Given the description of an element on the screen output the (x, y) to click on. 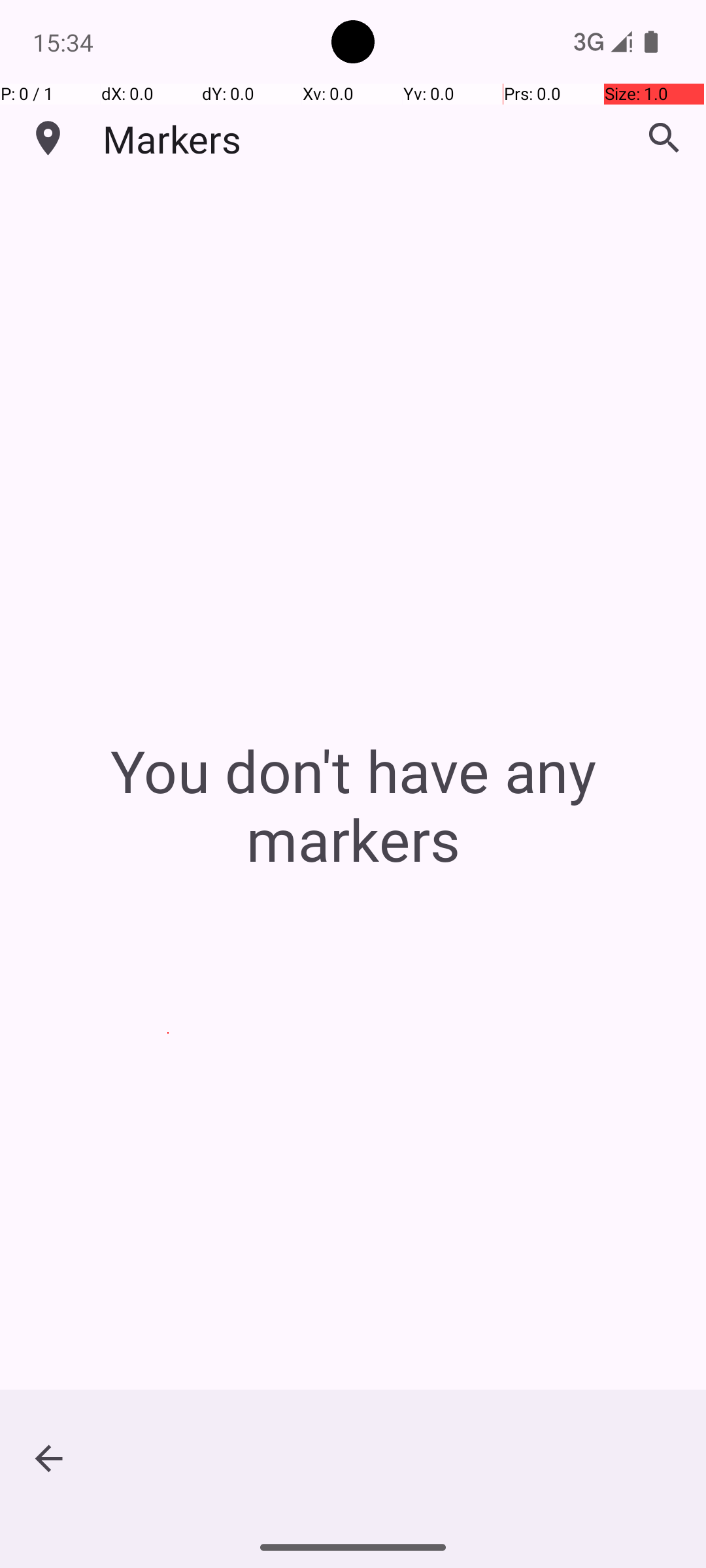
You don't have any markers Element type: android.widget.TextView (353, 805)
